Given the description of an element on the screen output the (x, y) to click on. 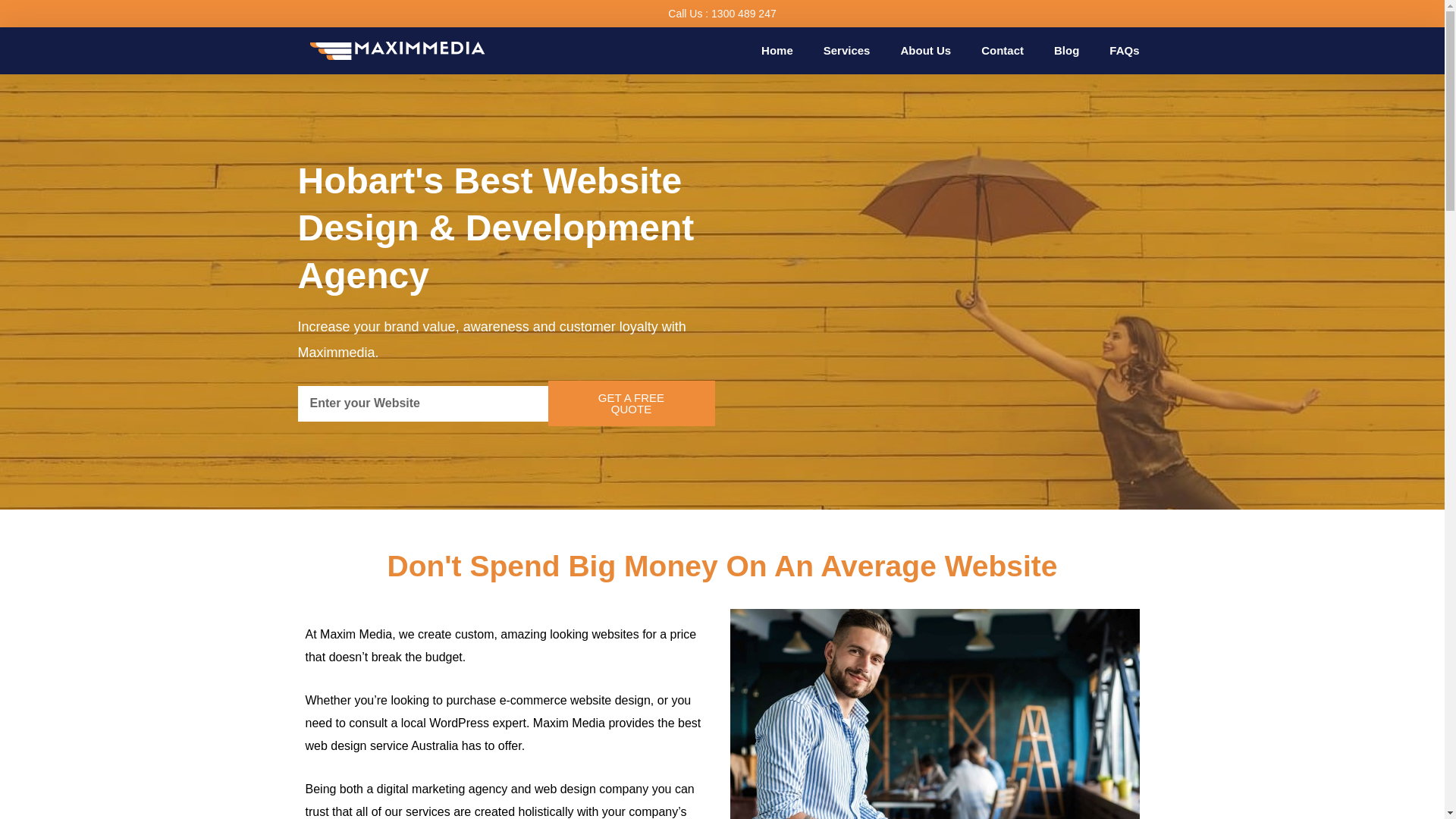
Services (846, 50)
About Us (925, 50)
Home (776, 50)
FAQs (1124, 50)
GET A FREE QUOTE (630, 402)
Blog (1066, 50)
Contact (1002, 50)
Call Us : 1300 489 247 (722, 13)
